Given the description of an element on the screen output the (x, y) to click on. 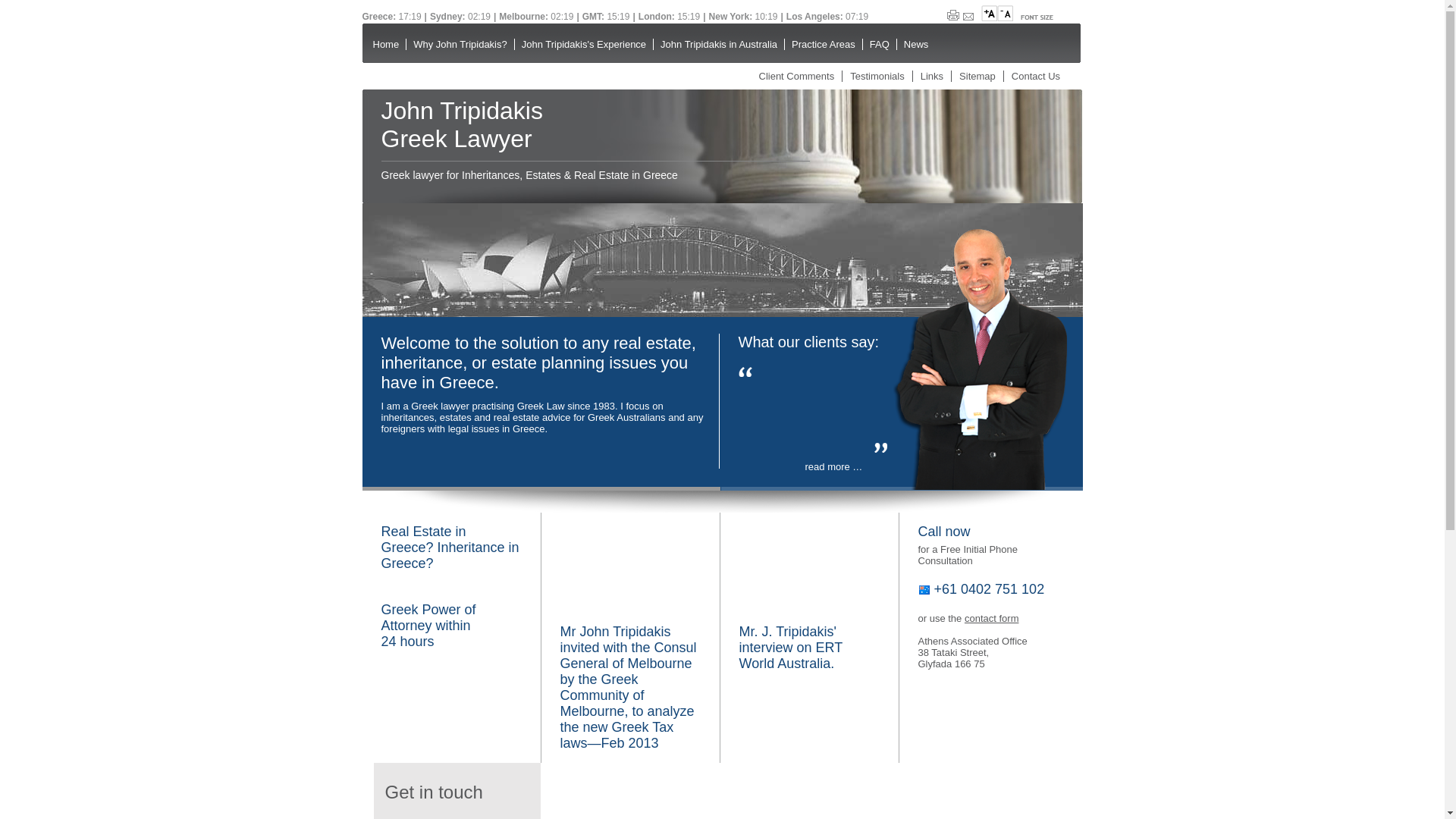
Sitemap Element type: text (977, 75)
Why John Tripidakis? Element type: text (459, 44)
FAQ Element type: text (879, 44)
Links Element type: text (931, 75)
Home Element type: text (385, 44)
contact form Element type: text (991, 618)
John Tripidakis in Australia Element type: text (718, 44)
John Tripidakis's Experience Element type: text (583, 44)
Practice Areas Element type: text (823, 44)
News Element type: text (915, 44)
Client Comments Element type: text (796, 75)
Testimonials Element type: text (877, 75)
Contact Us Element type: text (1035, 75)
